Given the description of an element on the screen output the (x, y) to click on. 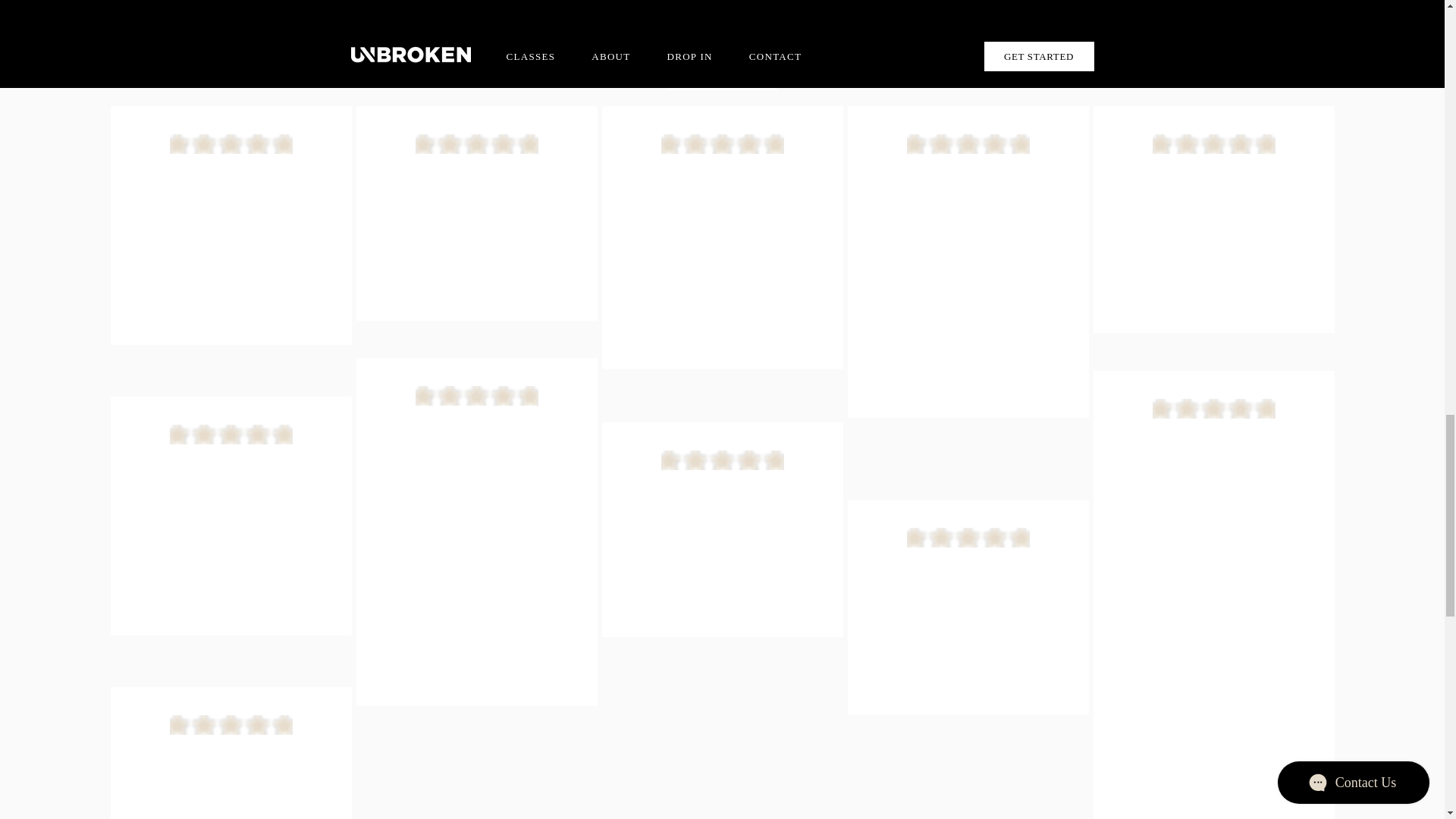
READ MORE (721, 78)
